Given the description of an element on the screen output the (x, y) to click on. 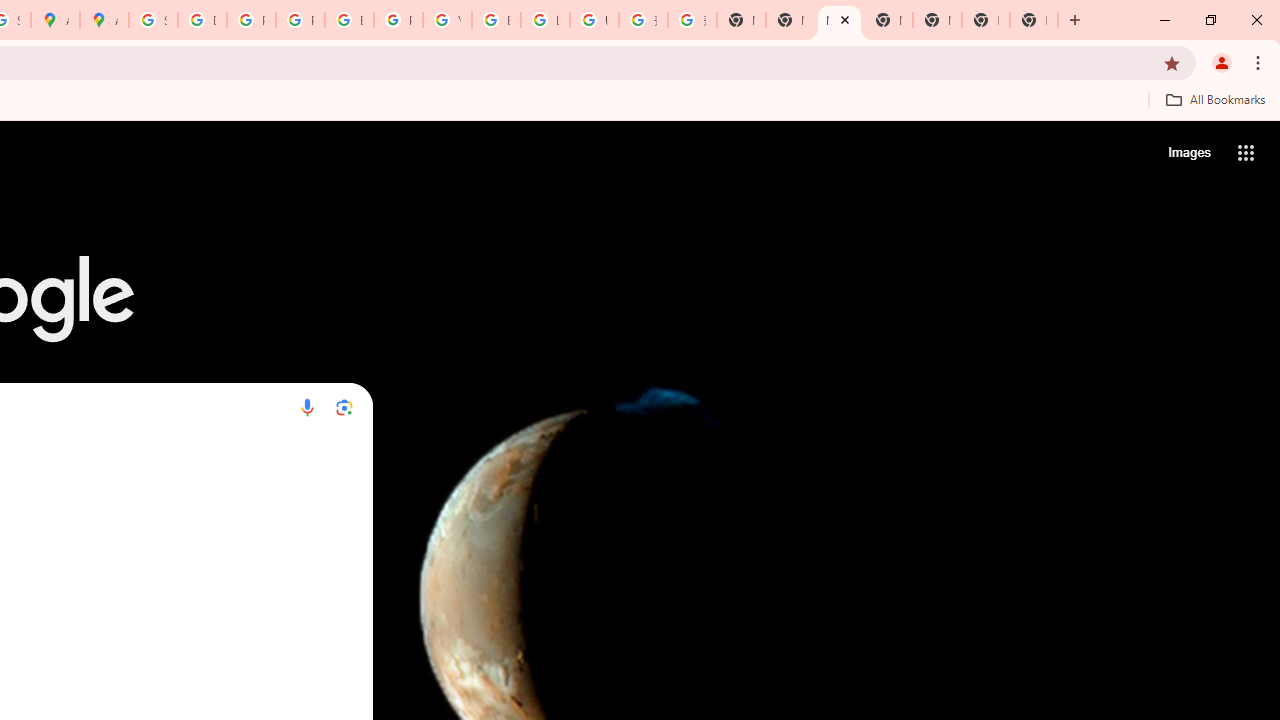
New Tab (985, 20)
YouTube (447, 20)
Search for Images  (1188, 152)
New Tab (1033, 20)
All Bookmarks (1215, 99)
Browse Chrome as a guest - Computer - Google Chrome Help (496, 20)
Search by voice (307, 407)
